Given the description of an element on the screen output the (x, y) to click on. 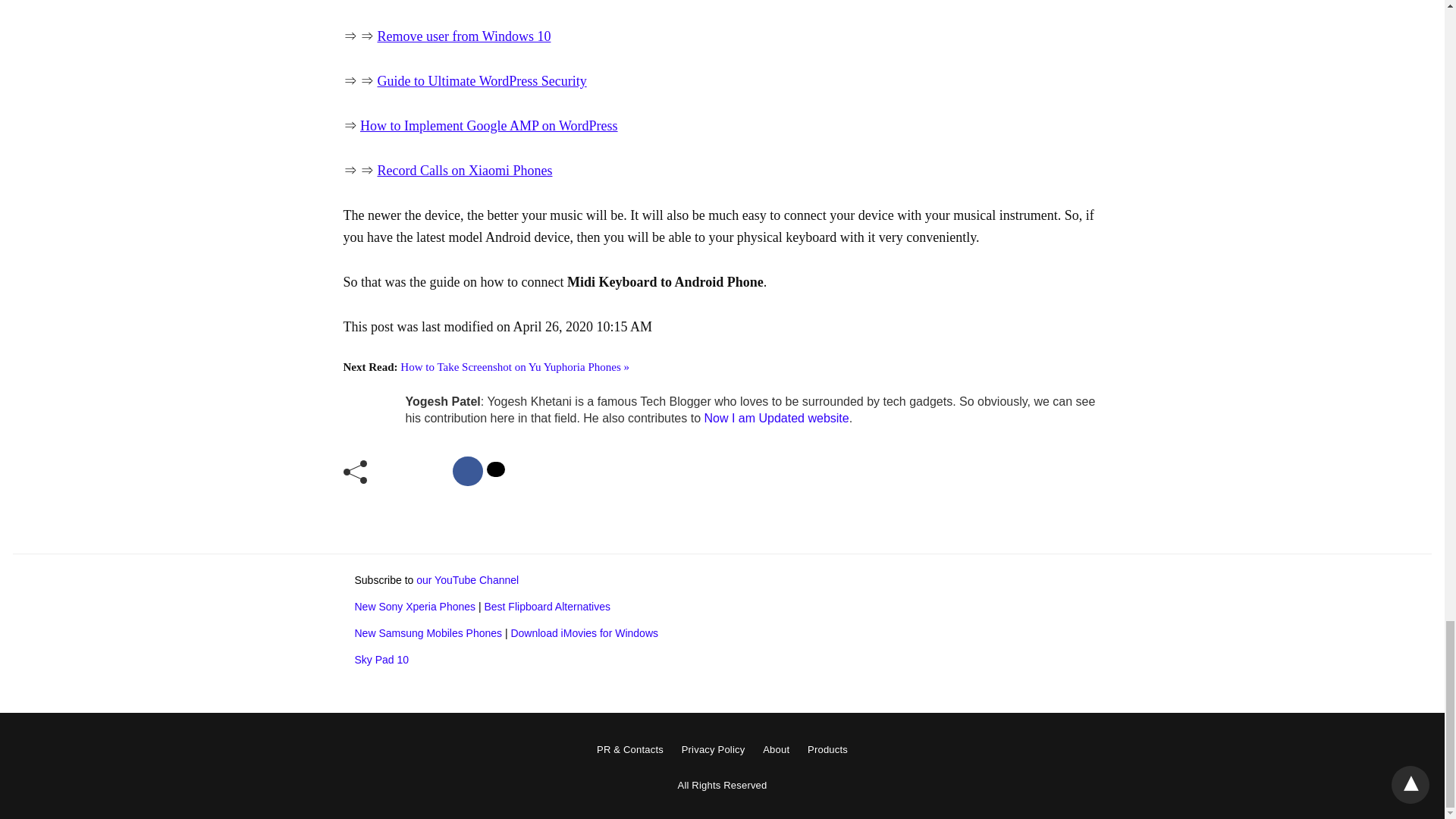
New Samsung Mobiles Phones (428, 633)
How to Implement Google AMP on WordPress (488, 125)
Privacy Policy (713, 749)
Download iMovies for Windows (584, 633)
New Sony Xperia Phones (415, 606)
Guide to Ultimate WordPress Security (481, 80)
Now I am Updated website (775, 418)
Record Calls on Xiaomi Phones (465, 170)
Products (827, 749)
About (775, 749)
Best Flipboard Alternatives (546, 606)
facebook share (467, 471)
Sky Pad 10 (382, 659)
Remove user from Windows 10 (464, 36)
twitter share (495, 468)
